Given the description of an element on the screen output the (x, y) to click on. 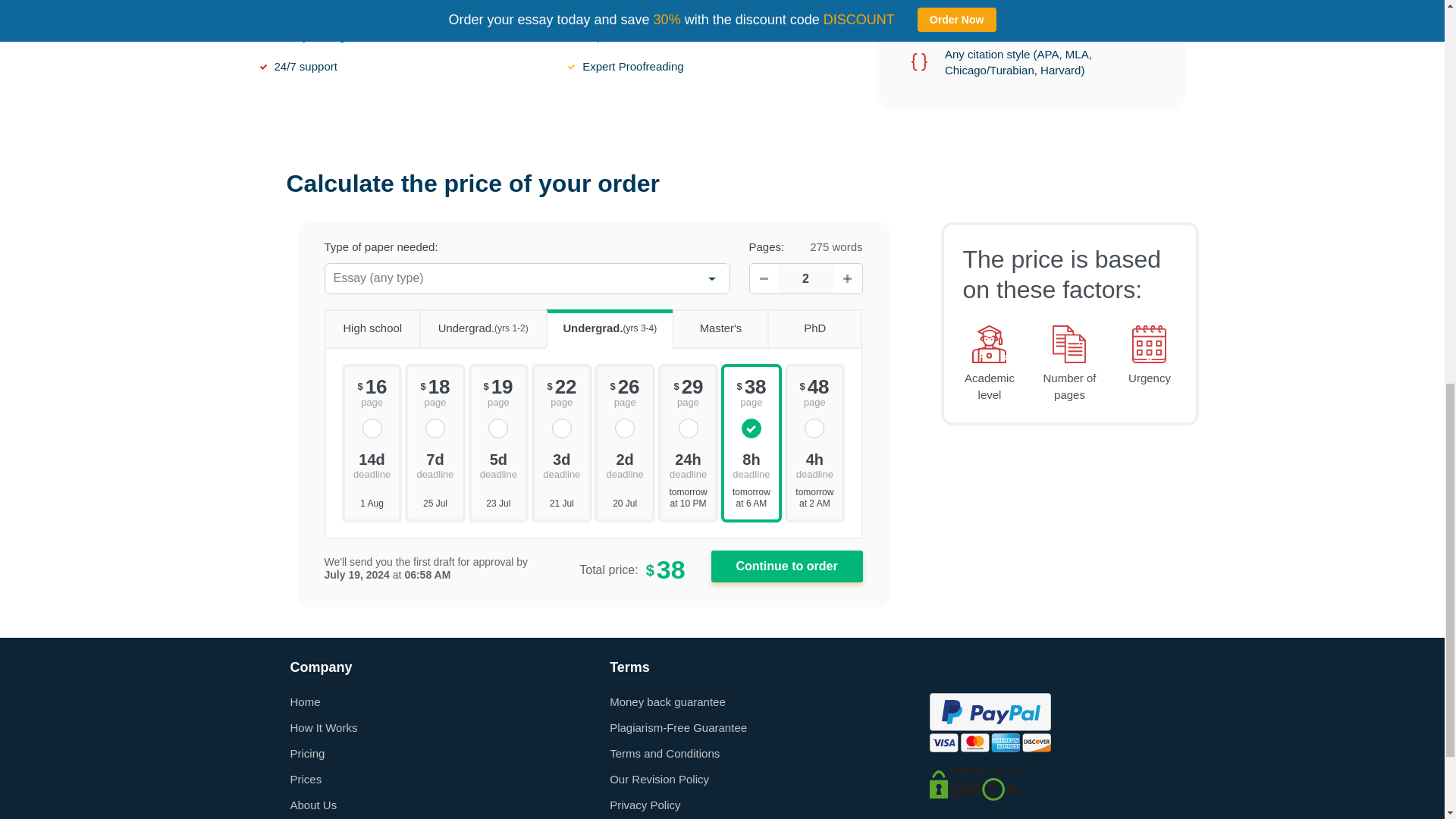
8 hours (751, 464)
14 days (372, 464)
Decrease (763, 277)
Continue to Order (787, 566)
4 hours (815, 464)
Continue to order (787, 566)
2 (804, 278)
Increase (846, 277)
About Us (312, 804)
Plagiarism-Free Guarantee (678, 727)
24 hours (688, 464)
5 days (499, 464)
7 days (435, 464)
Privacy Policy (644, 804)
Continue to order (787, 566)
